Given the description of an element on the screen output the (x, y) to click on. 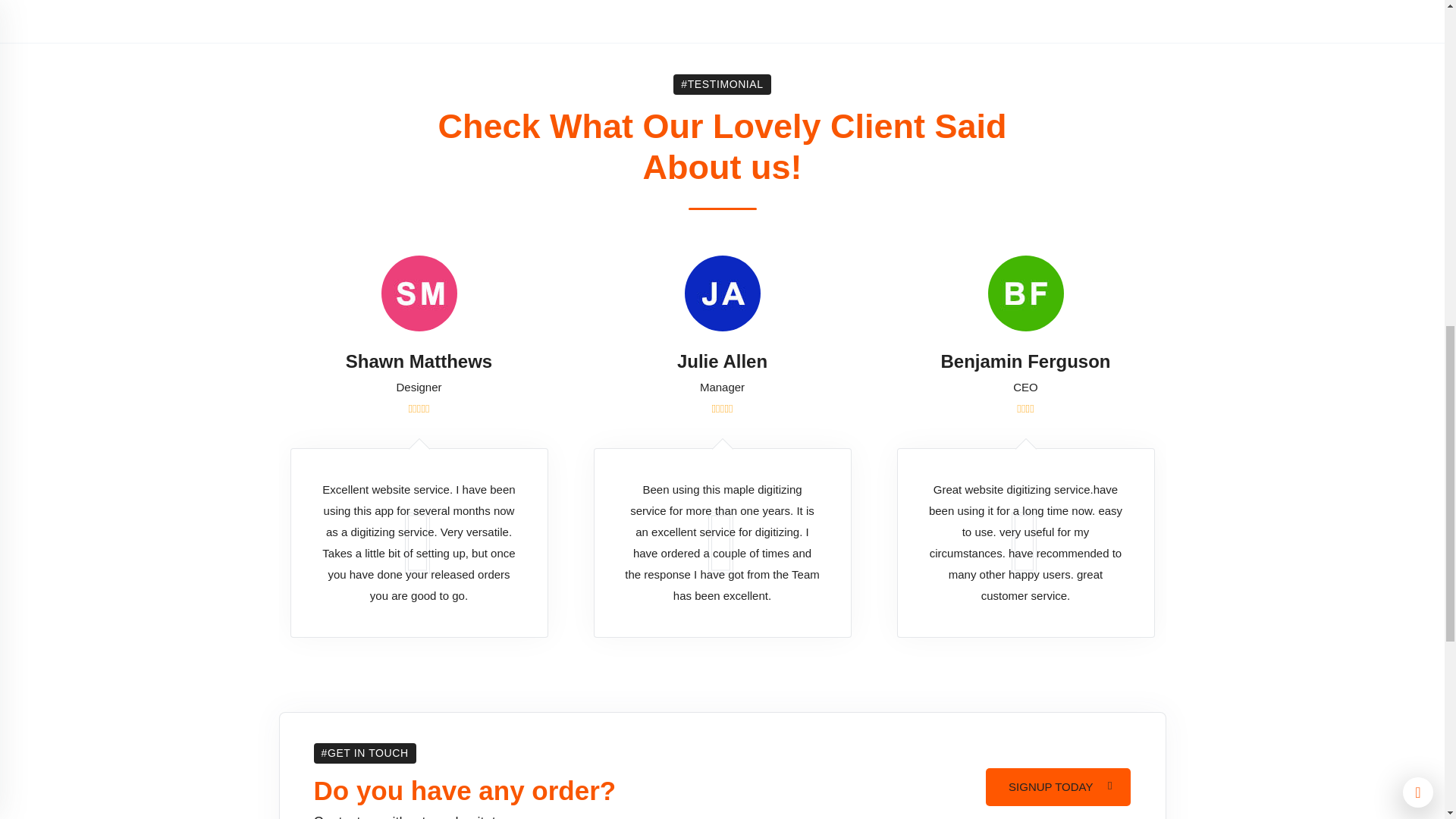
SIGNUP TODAY (1058, 786)
